Given the description of an element on the screen output the (x, y) to click on. 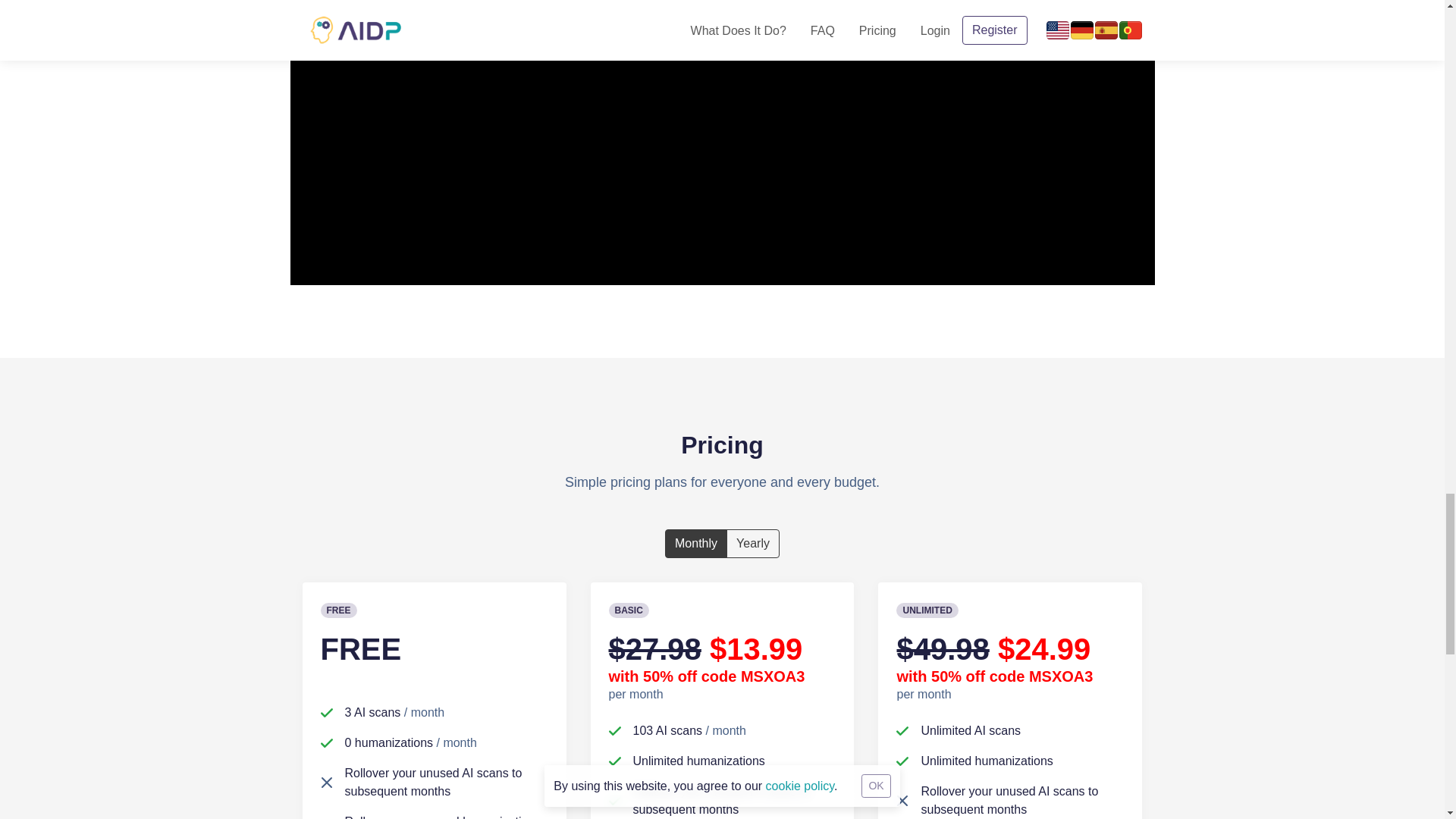
on (740, 539)
on (679, 539)
